Given the description of an element on the screen output the (x, y) to click on. 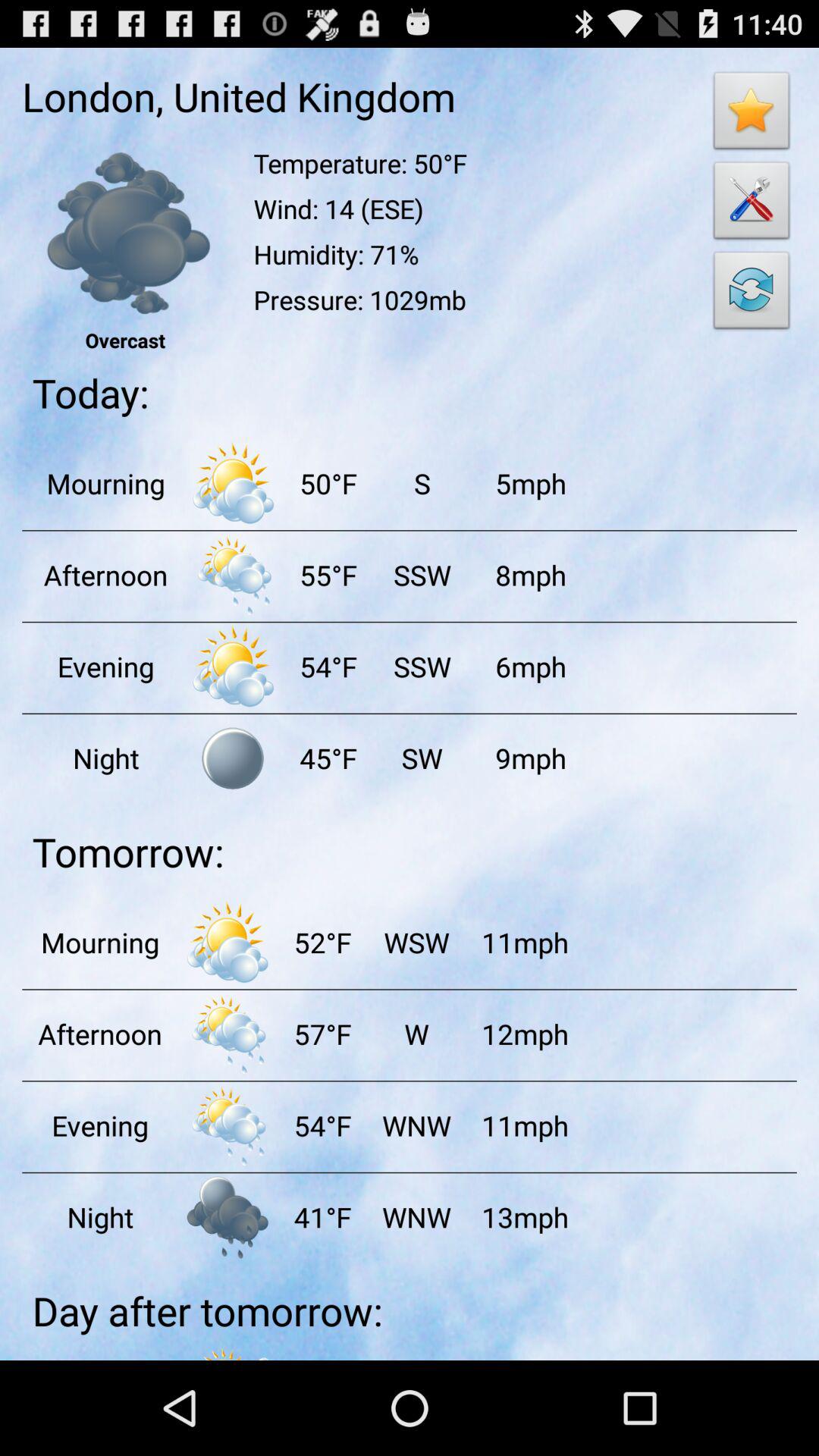
day time selection (232, 483)
